Given the description of an element on the screen output the (x, y) to click on. 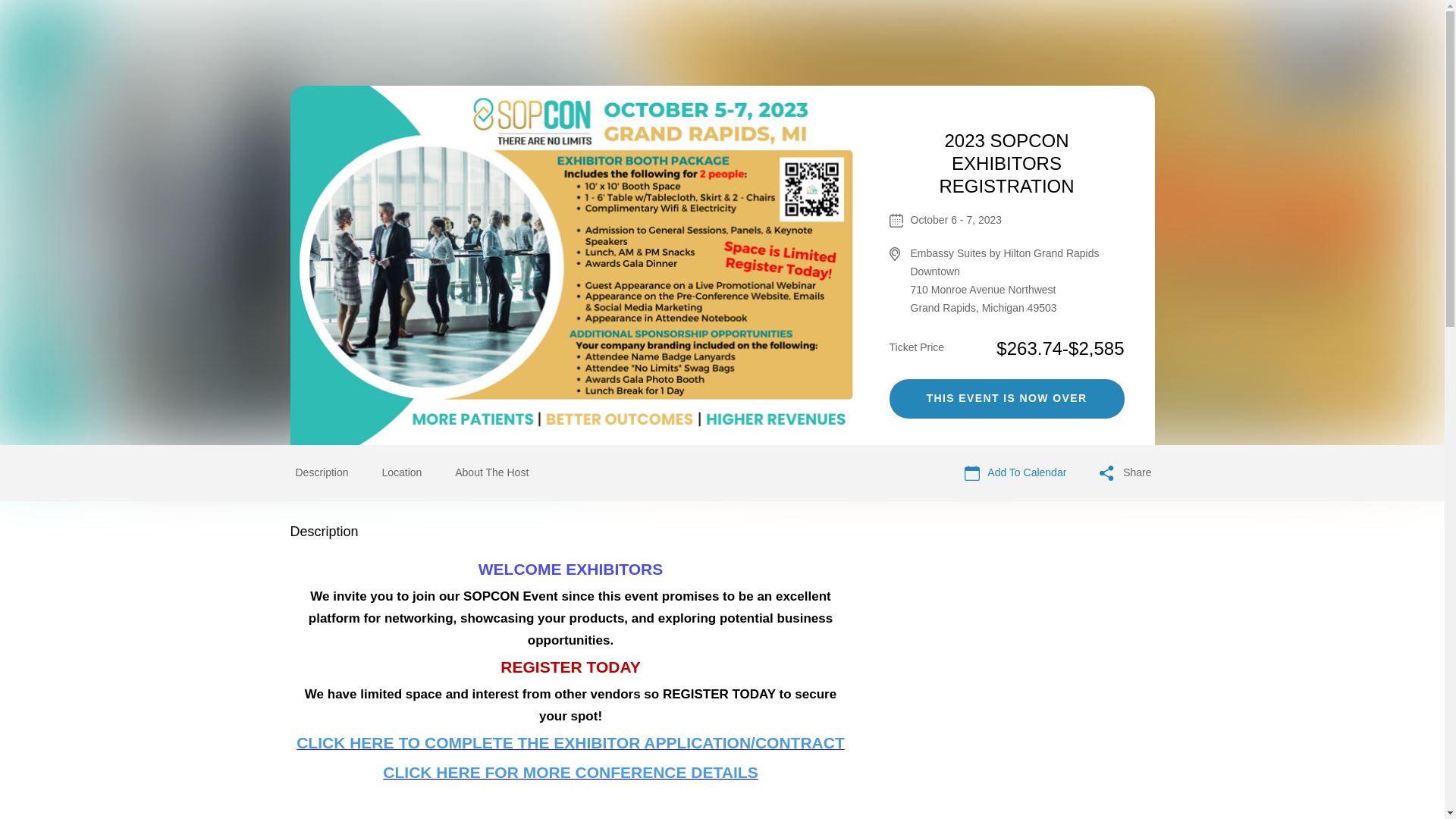
Location (401, 472)
About The Host (491, 473)
Share (1125, 473)
Add To Calendar (1014, 473)
Description (322, 472)
Description (322, 473)
Location (401, 473)
About The Host (491, 472)
CLICK HERE FOR MORE CONFERENCE DETAILS (569, 774)
